Given the description of an element on the screen output the (x, y) to click on. 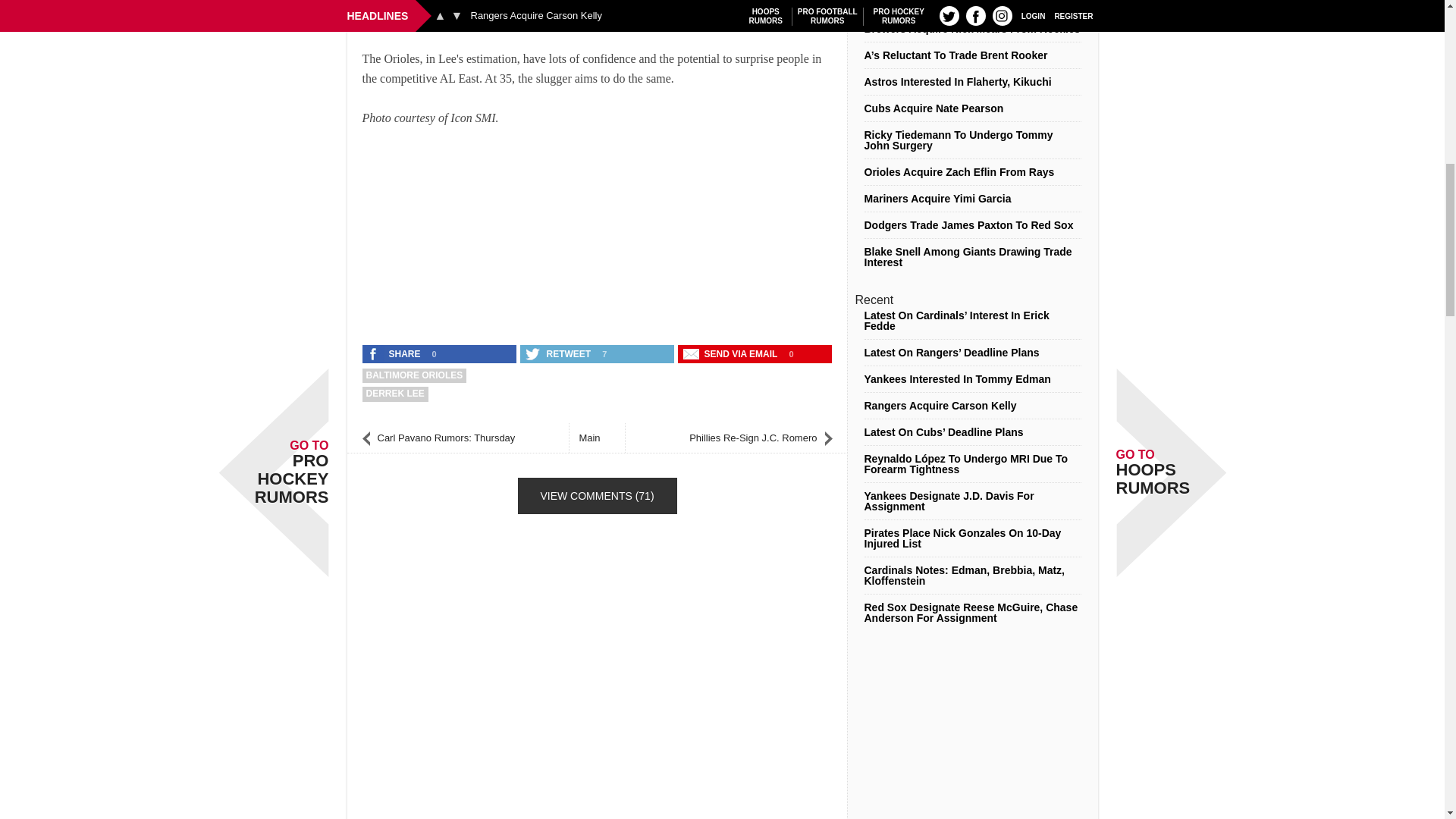
Share 'Lee Looks To Prove Doubters Wrong' on Facebook (395, 353)
Send Lee Looks To Prove Doubters Wrong with an email (732, 353)
Retweet 'Lee Looks To Prove Doubters Wrong' on Twitter (558, 353)
